Given the description of an element on the screen output the (x, y) to click on. 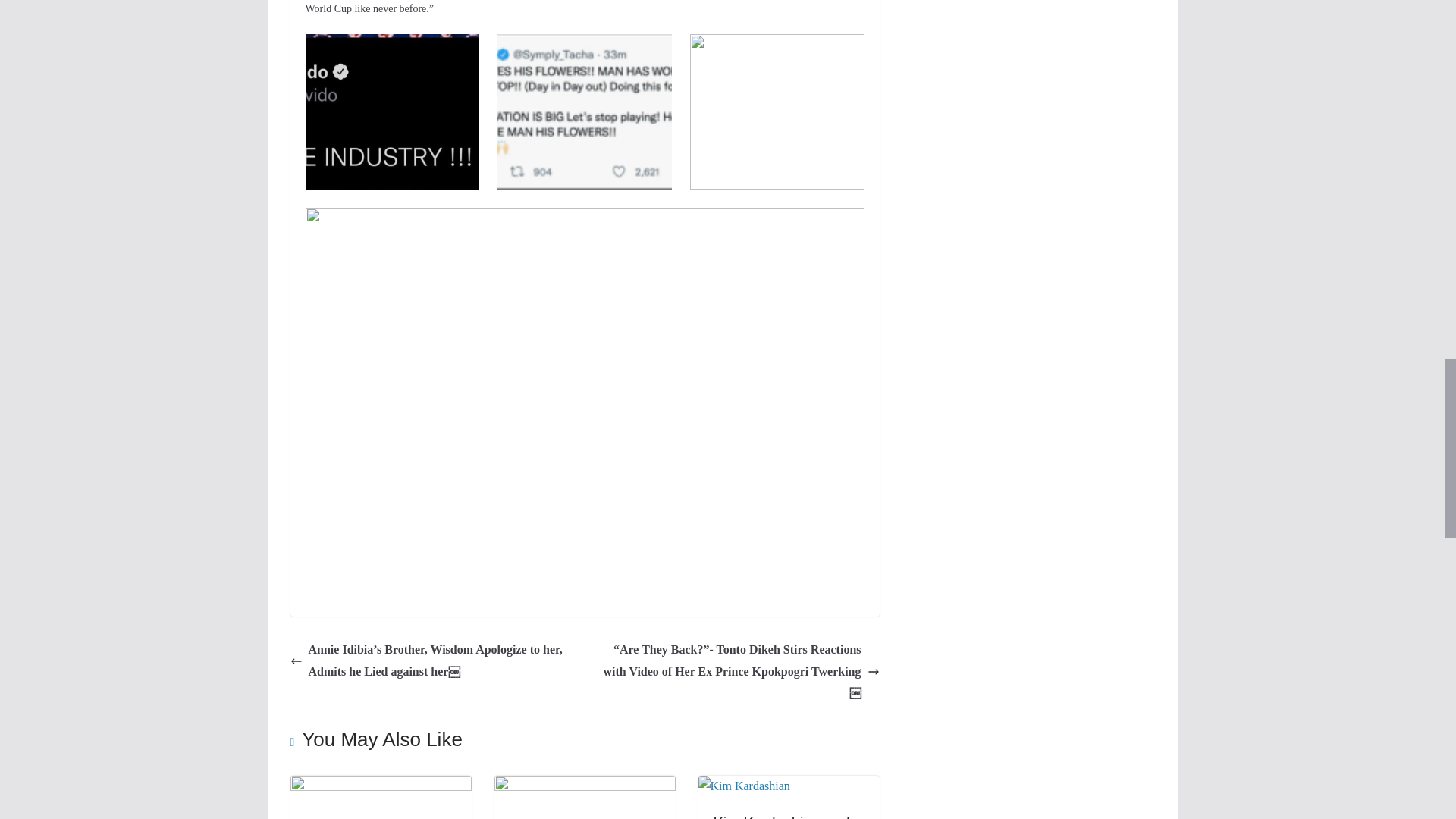
Kim Kardashian and Pete Davidson Are Officially Dating (743, 785)
Kim Kardashian and Pete Davidson Are Officially Dating (780, 816)
Kim Kardashian and Pete Davidson Are Officially Dating (780, 816)
